Given the description of an element on the screen output the (x, y) to click on. 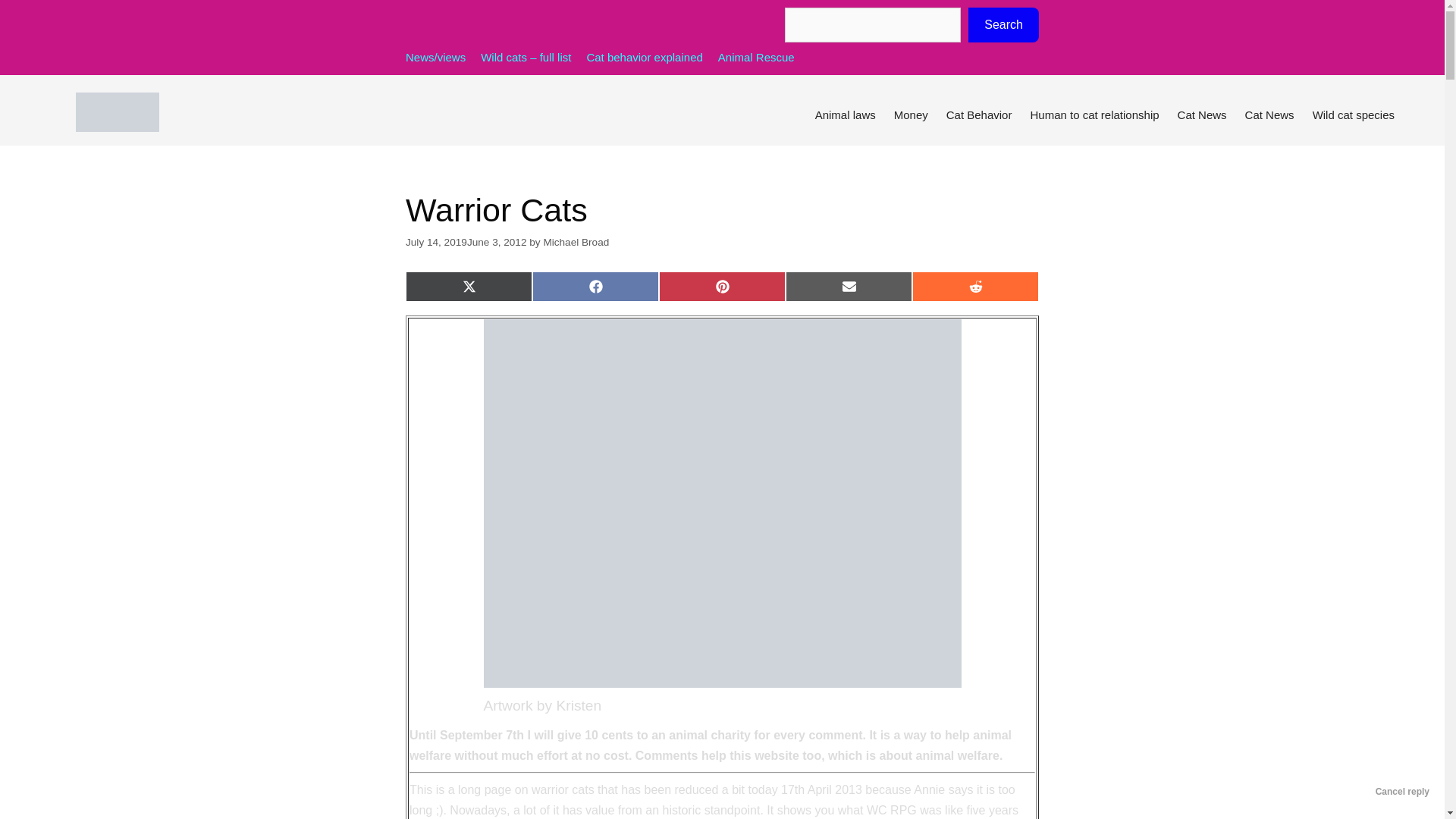
Cat behavior explained (643, 56)
Wild cat species (1353, 115)
Share on Email (849, 286)
Share on Pinterest (722, 286)
Animal laws (845, 115)
Cat News (1269, 115)
Search (1003, 24)
Cat News (1202, 115)
Michael Broad (575, 242)
Human to cat relationship (1093, 115)
